Given the description of an element on the screen output the (x, y) to click on. 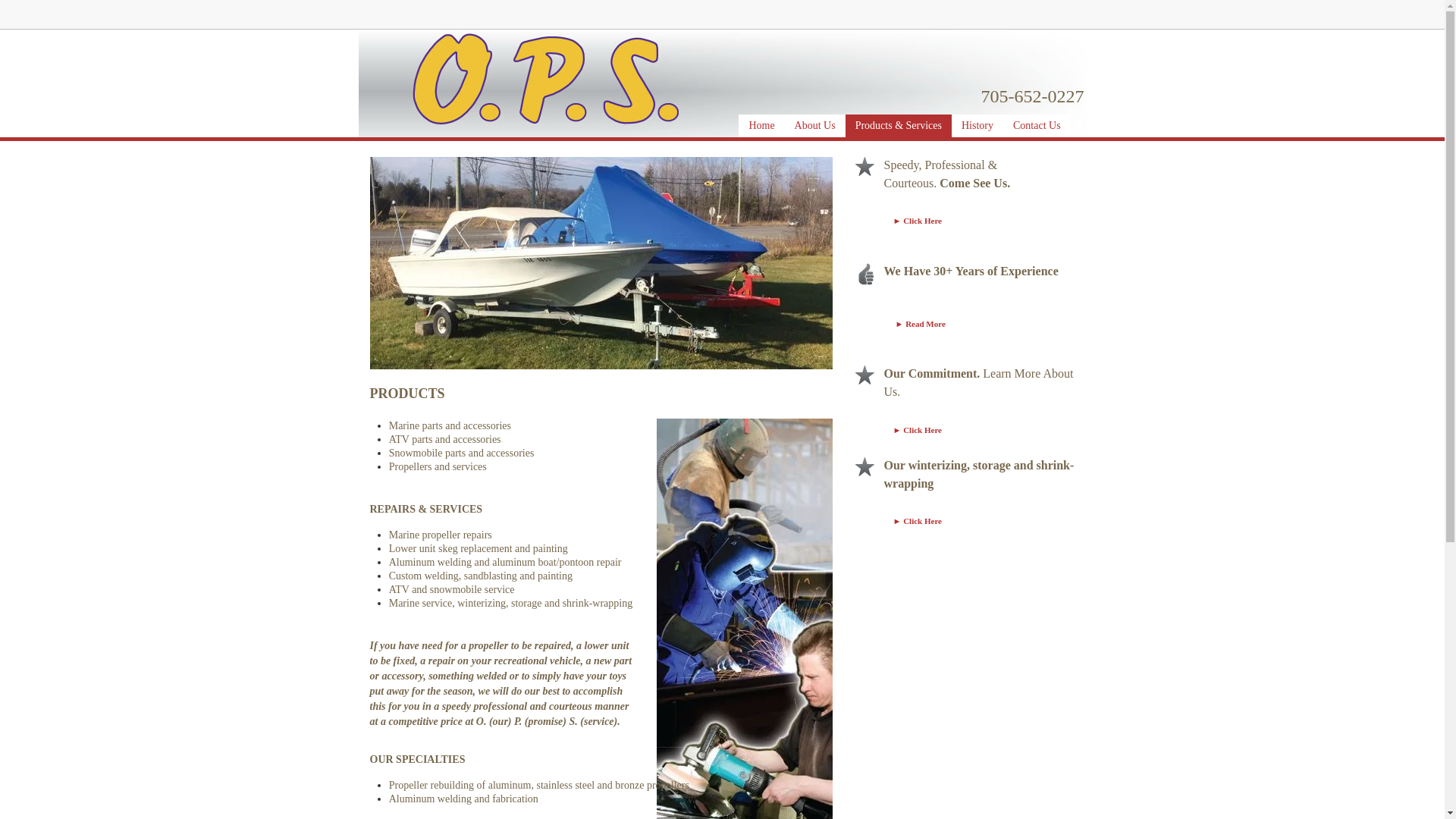
About Us (814, 125)
Home (761, 125)
705-652-0227 (1032, 99)
History (977, 125)
Contact Us (1036, 125)
